Given the description of an element on the screen output the (x, y) to click on. 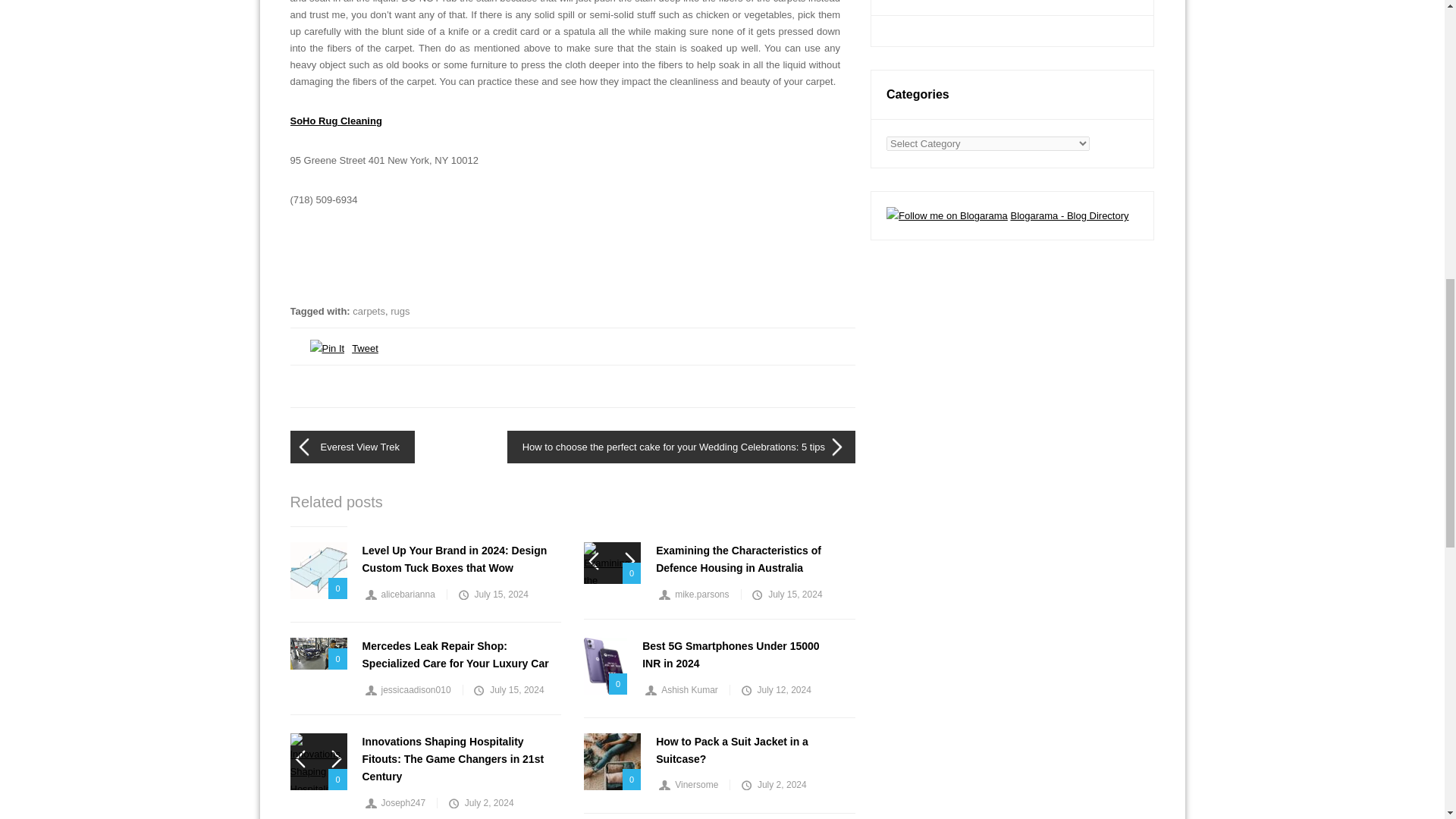
carpets (368, 310)
Tweet (365, 348)
Everest View Trek (351, 446)
rugs (399, 310)
SoHo Rug Cleaning (335, 120)
Pin It (325, 348)
10:00 am (491, 593)
